Given the description of an element on the screen output the (x, y) to click on. 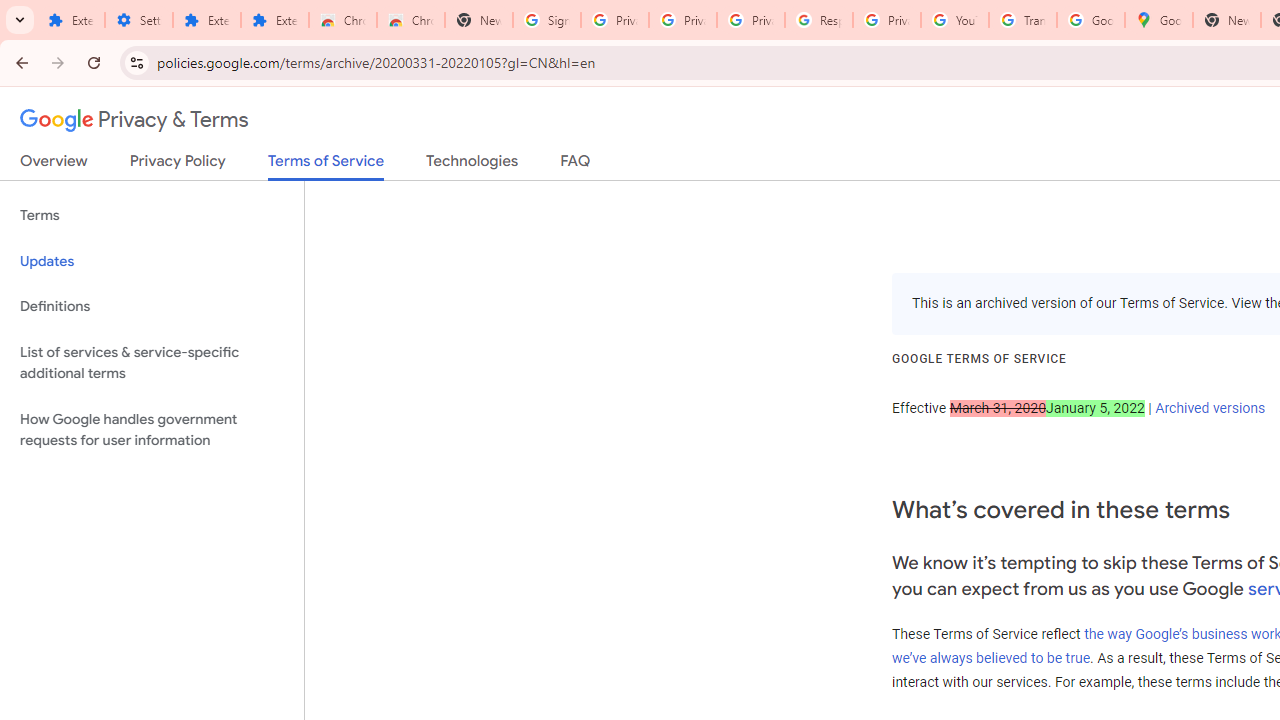
Extensions (274, 20)
Definitions (152, 306)
Settings (138, 20)
Chrome Web Store (342, 20)
Google Maps (1158, 20)
List of services & service-specific additional terms (152, 362)
How Google handles government requests for user information (152, 429)
Chrome Web Store - Themes (411, 20)
